Given the description of an element on the screen output the (x, y) to click on. 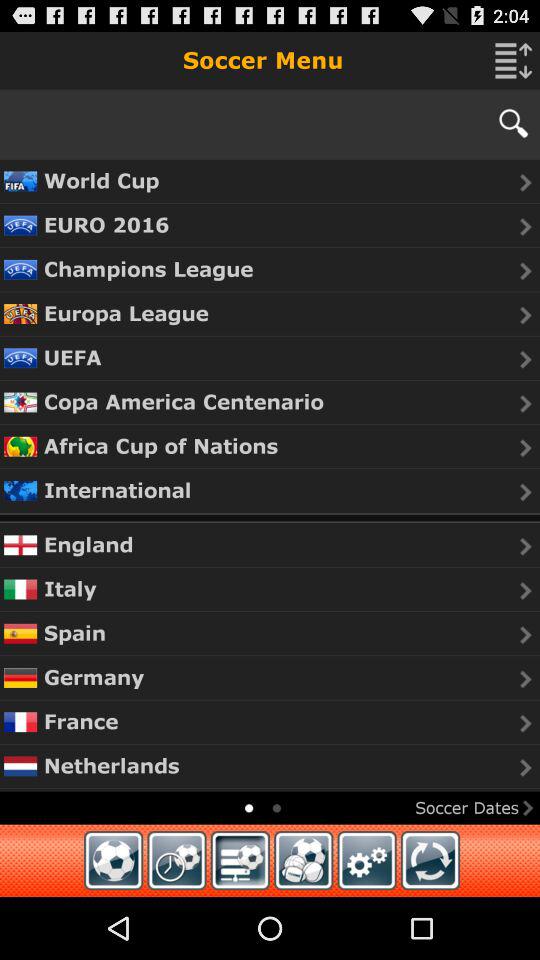
select next button which is after euro 2016 on the page (525, 226)
select the flag which is to the immediate left of italy (20, 588)
select the next button which is after france on the page (525, 723)
select the arrow in front of the text africa cup of nations (525, 447)
click on the caret right arrow which is to the right side of the word england (525, 545)
select the image which is to the immediate left of settings symbol in the bottom (303, 860)
click on the caret right arrow (525, 590)
select icon which is before africa cup of nations (20, 446)
